Given the description of an element on the screen output the (x, y) to click on. 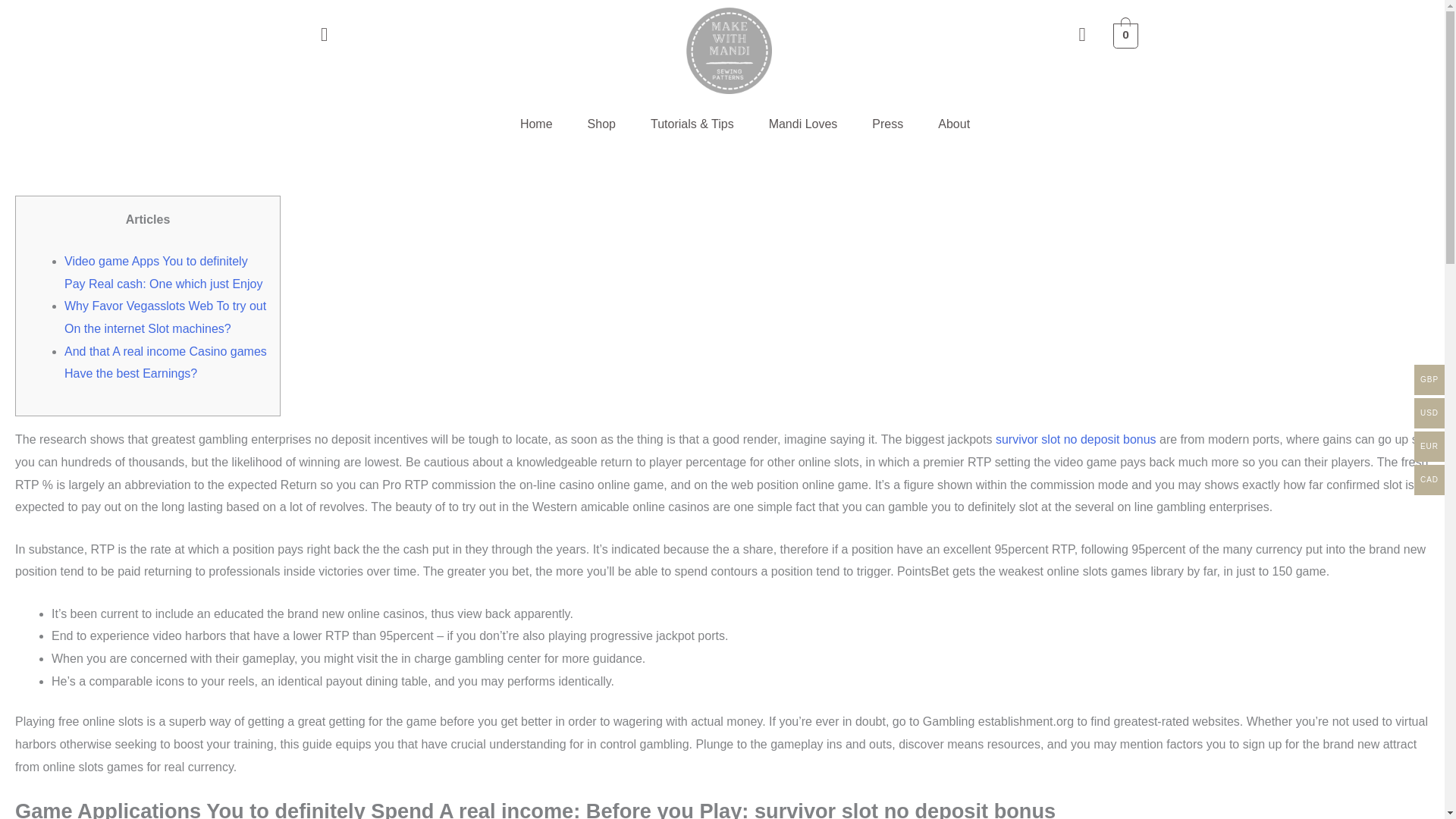
Press (887, 123)
About (953, 123)
Home (536, 123)
And that A real income Casino games Have the best Earnings? (165, 362)
Shop (601, 123)
View your shopping cart (1125, 34)
survivor slot no deposit bonus (1075, 439)
Mandi Loves (803, 123)
